Given the description of an element on the screen output the (x, y) to click on. 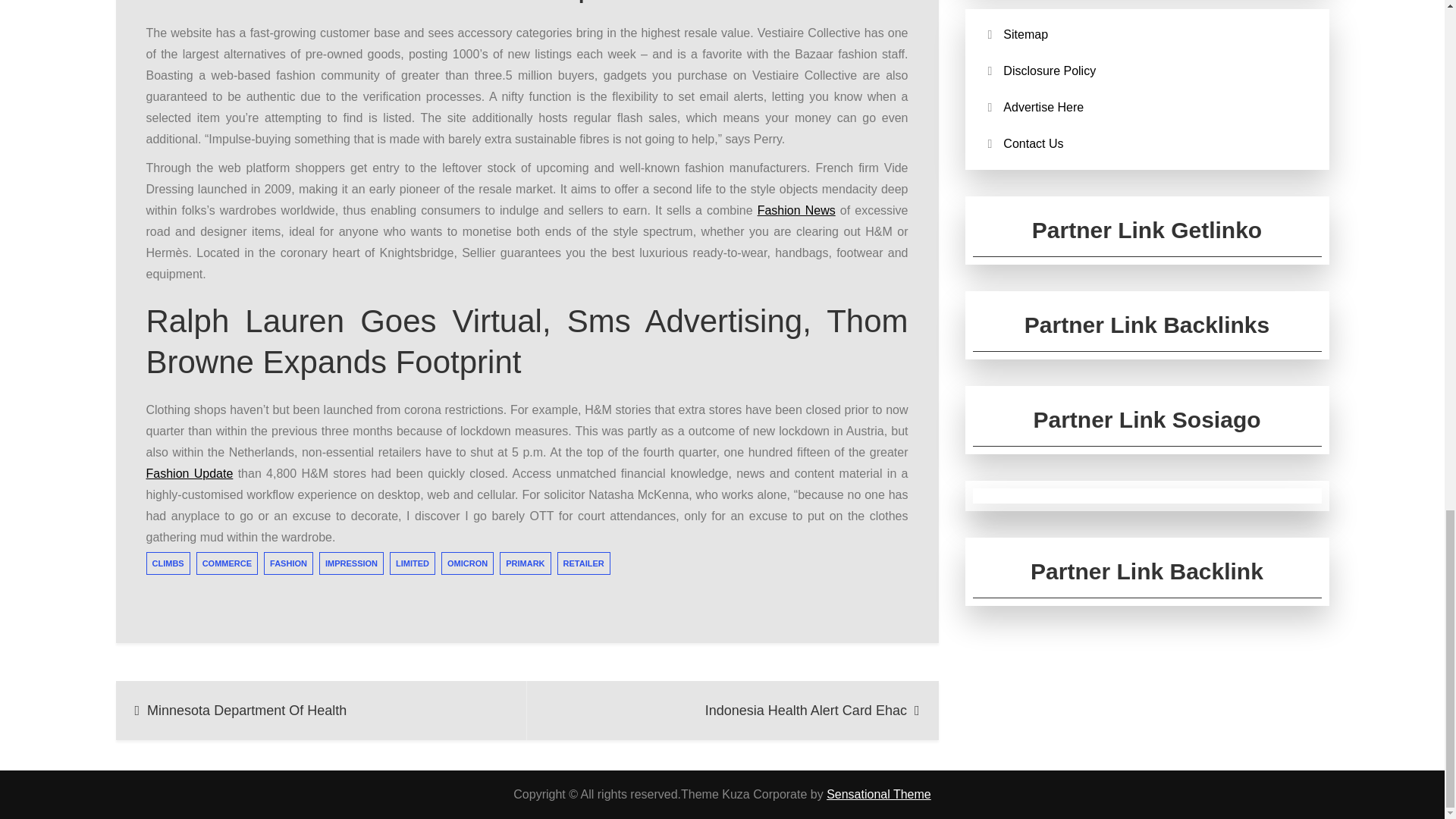
COMMERCE (226, 563)
IMPRESSION (351, 563)
Fashion Update (188, 472)
LIMITED (412, 563)
Fashion News (796, 210)
FASHION (288, 563)
RETAILER (583, 563)
OMICRON (467, 563)
Minnesota Department Of Health (321, 710)
PRIMARK (524, 563)
